Given the description of an element on the screen output the (x, y) to click on. 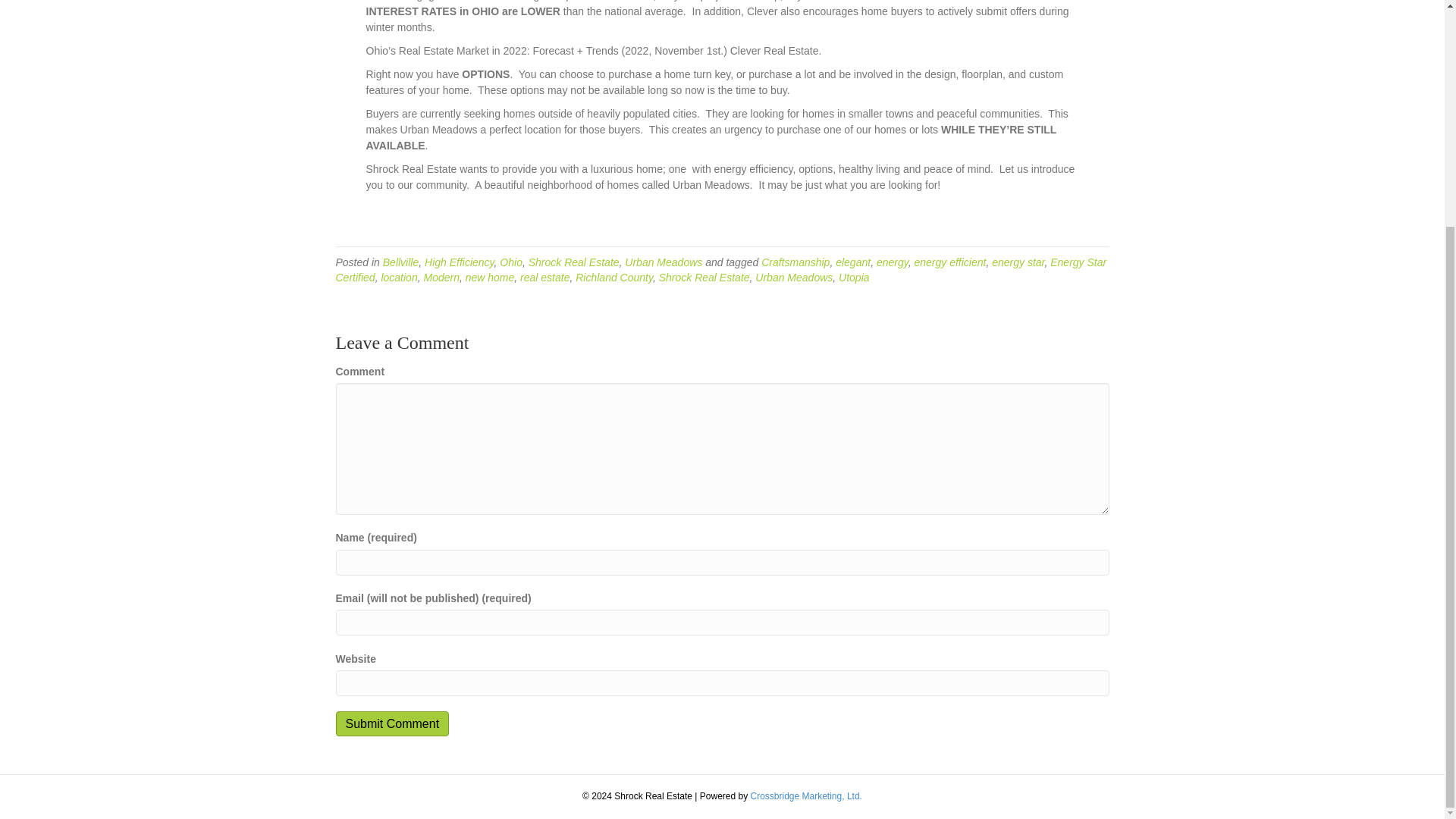
Submit Comment (391, 723)
Ohio (510, 262)
Craftsmanship (795, 262)
energy star (1017, 262)
Shrock Real Estate (704, 277)
Urban Meadows (662, 262)
location (398, 277)
Crossbridge Marketing, Ltd. (806, 796)
new home (490, 277)
elegant (852, 262)
Shrock Real Estate (574, 262)
energy efficient (949, 262)
Modern (440, 277)
Richland County (613, 277)
Urban Meadows (793, 277)
